Given the description of an element on the screen output the (x, y) to click on. 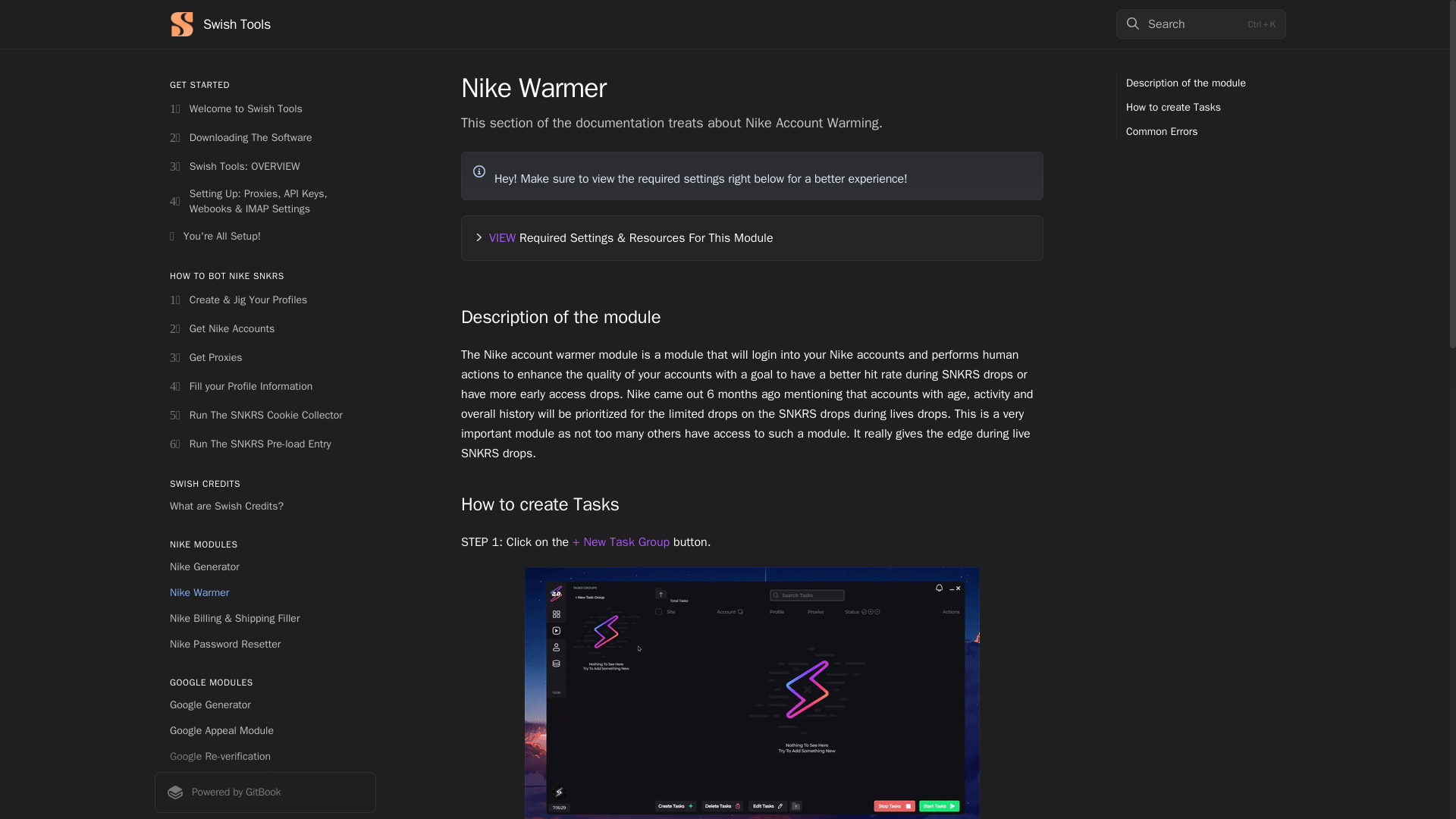
Card Groups (264, 812)
Nike Generator (264, 567)
Swish Tools (220, 24)
Google Re-verification (264, 756)
Google Generator (264, 704)
Nike Password Resetter (264, 644)
What are Swish Credits? (264, 506)
Google Appeal Module (264, 730)
Nike Warmer (264, 592)
